Given the description of an element on the screen output the (x, y) to click on. 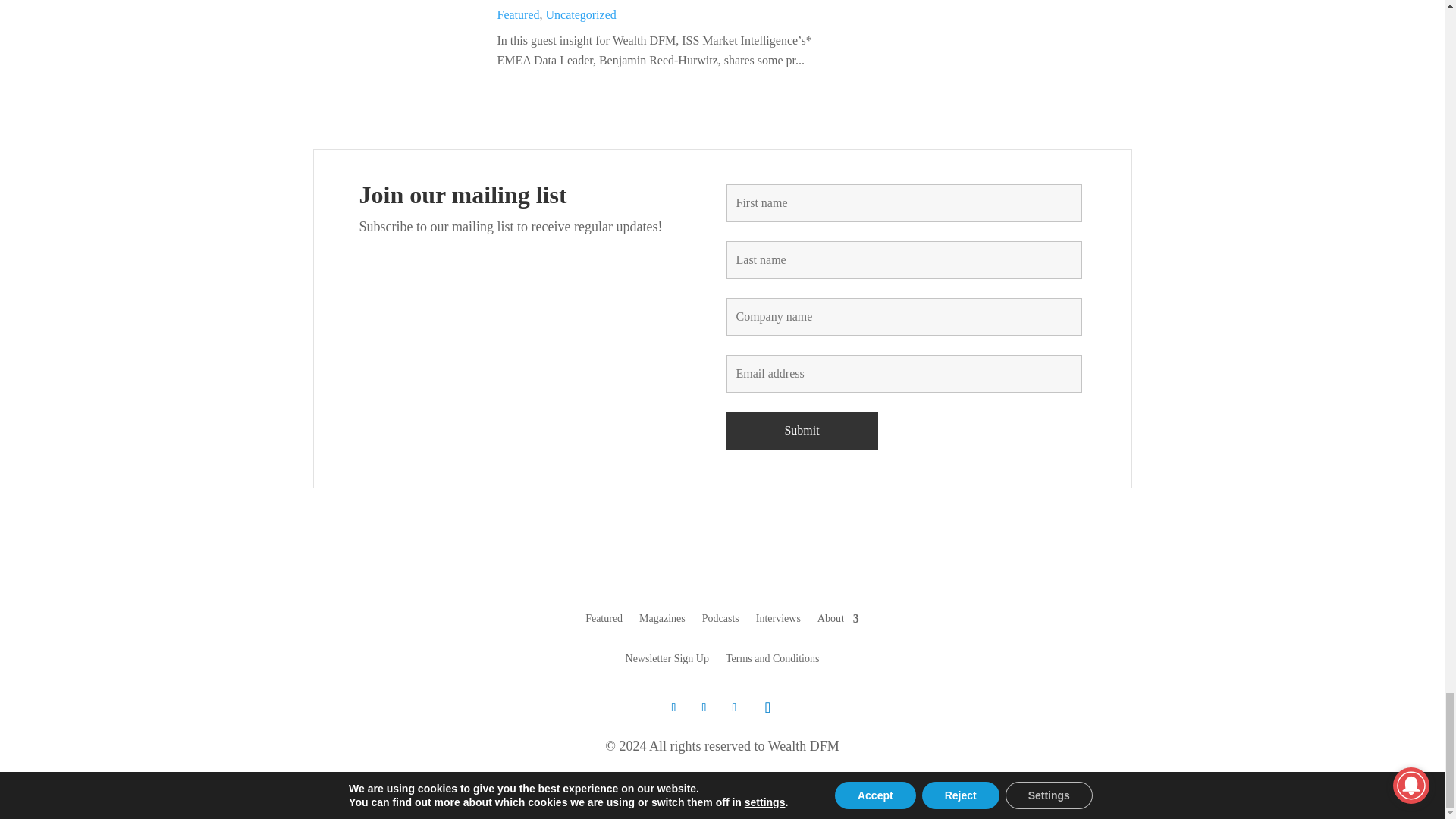
Follow on Facebook (703, 707)
Follow on X (673, 707)
Submit (801, 430)
Follow on Instagram (767, 707)
Follow on LinkedIn (733, 707)
